Given the description of an element on the screen output the (x, y) to click on. 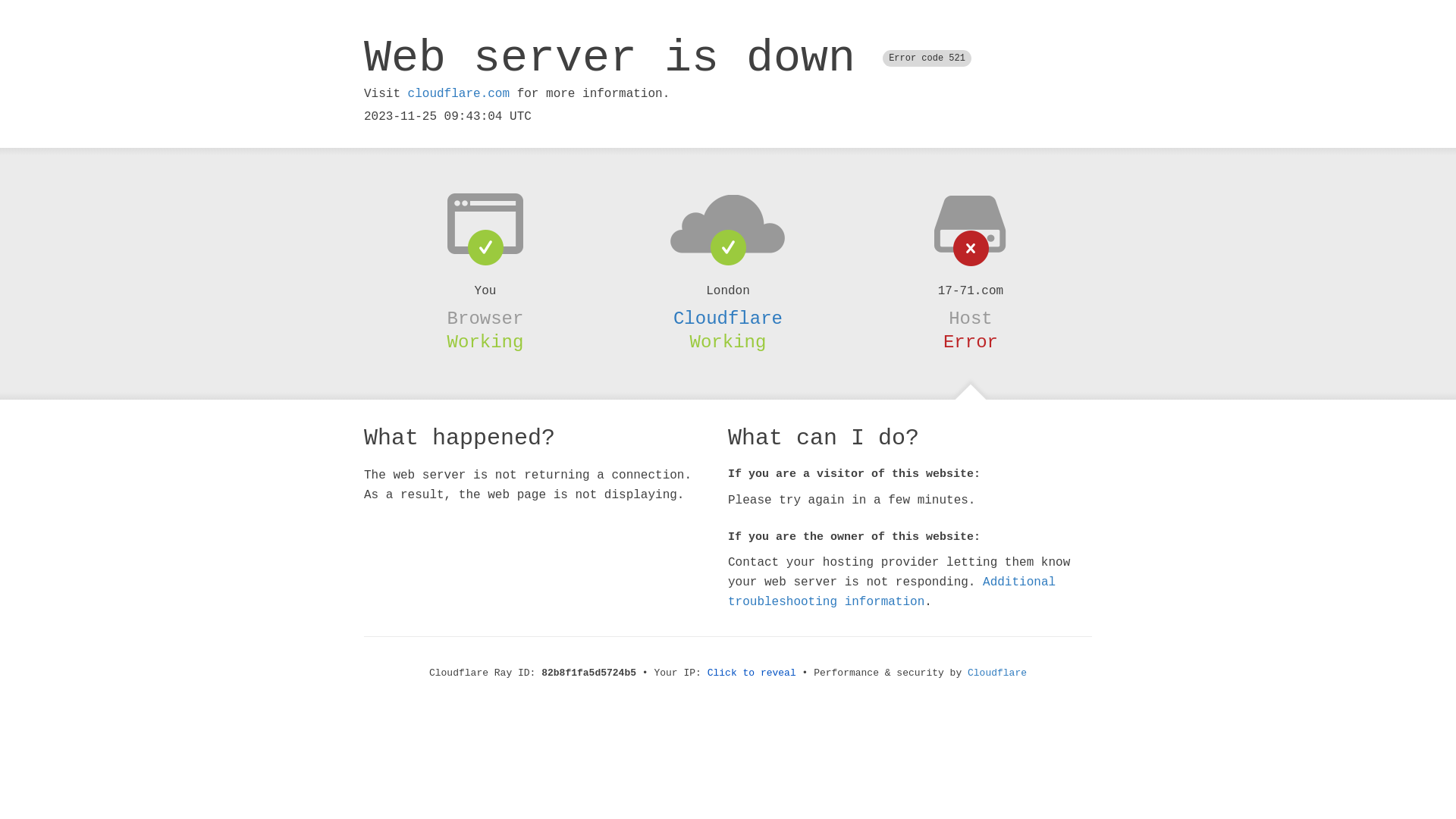
Cloudflare Element type: text (727, 318)
Additional troubleshooting information Element type: text (891, 591)
cloudflare.com Element type: text (458, 93)
Click to reveal Element type: text (751, 672)
Cloudflare Element type: text (996, 672)
